Given the description of an element on the screen output the (x, y) to click on. 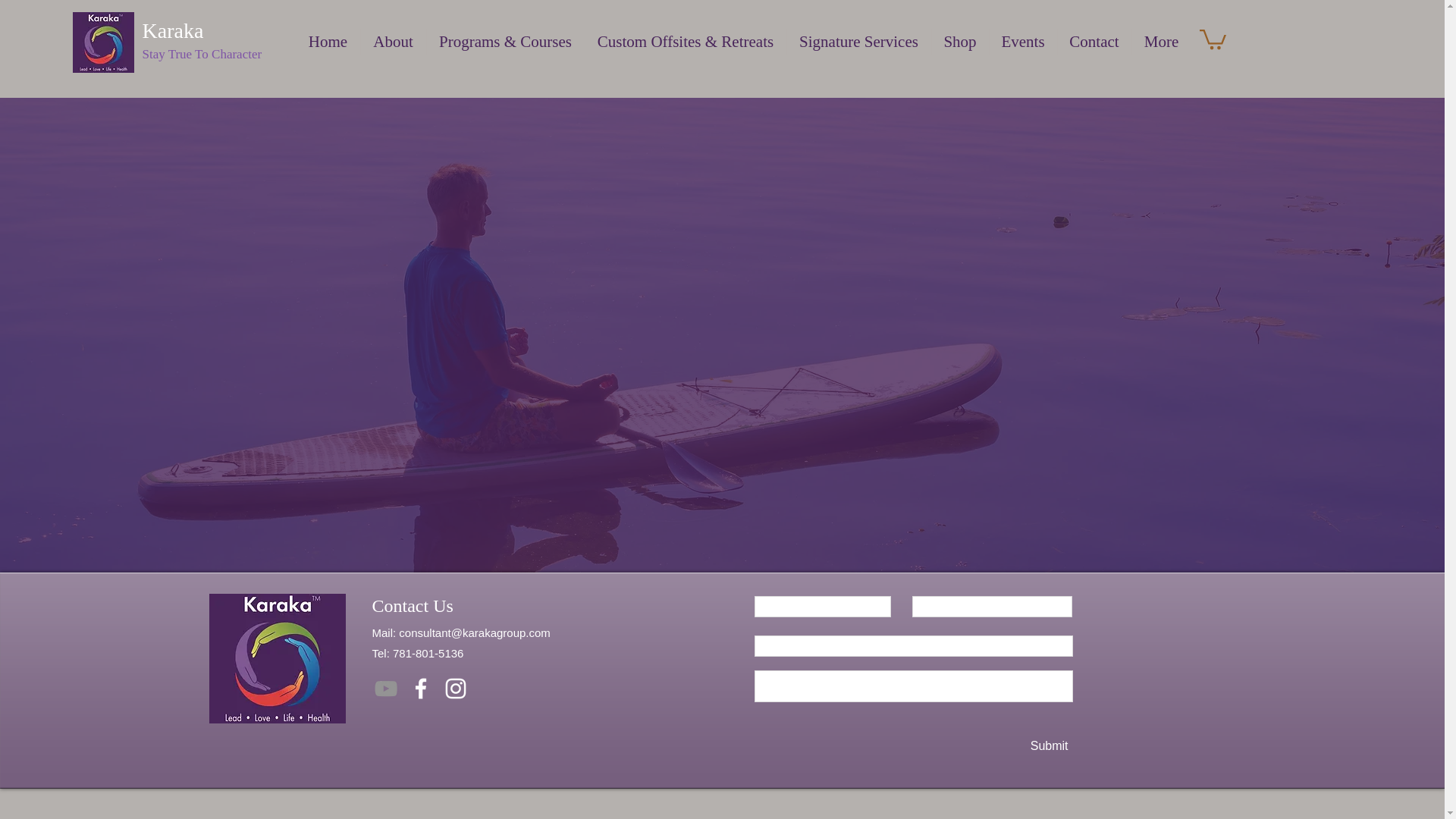
Submit (1046, 745)
Karaka  (175, 30)
Events (1022, 41)
Signature Services (859, 41)
About (393, 41)
Shop (959, 41)
Contact (1094, 41)
Home (327, 41)
